Given the description of an element on the screen output the (x, y) to click on. 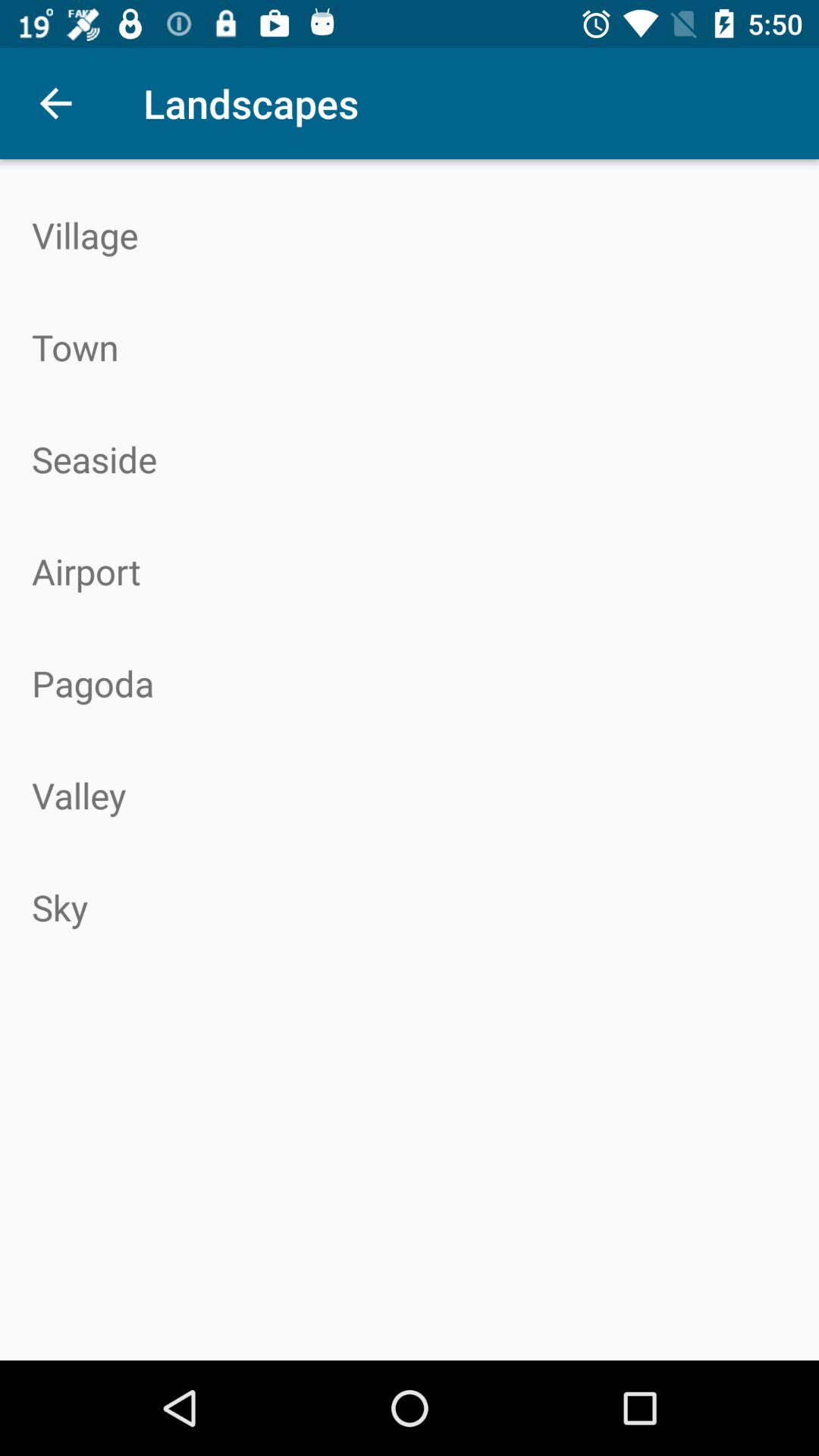
jump to the town (409, 347)
